Given the description of an element on the screen output the (x, y) to click on. 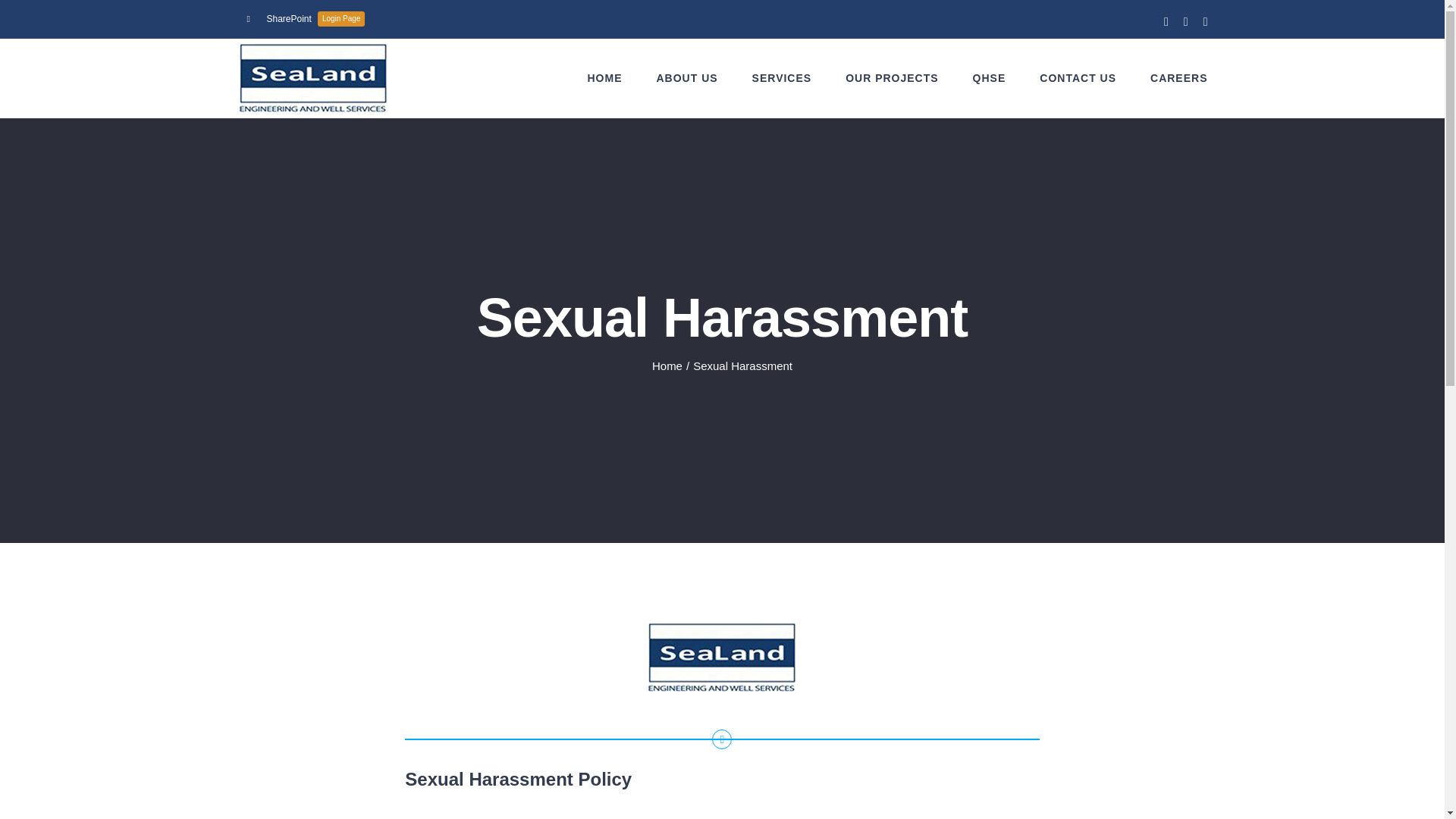
OUR PROJECTS (891, 77)
CONTACT US (304, 18)
